Given the description of an element on the screen output the (x, y) to click on. 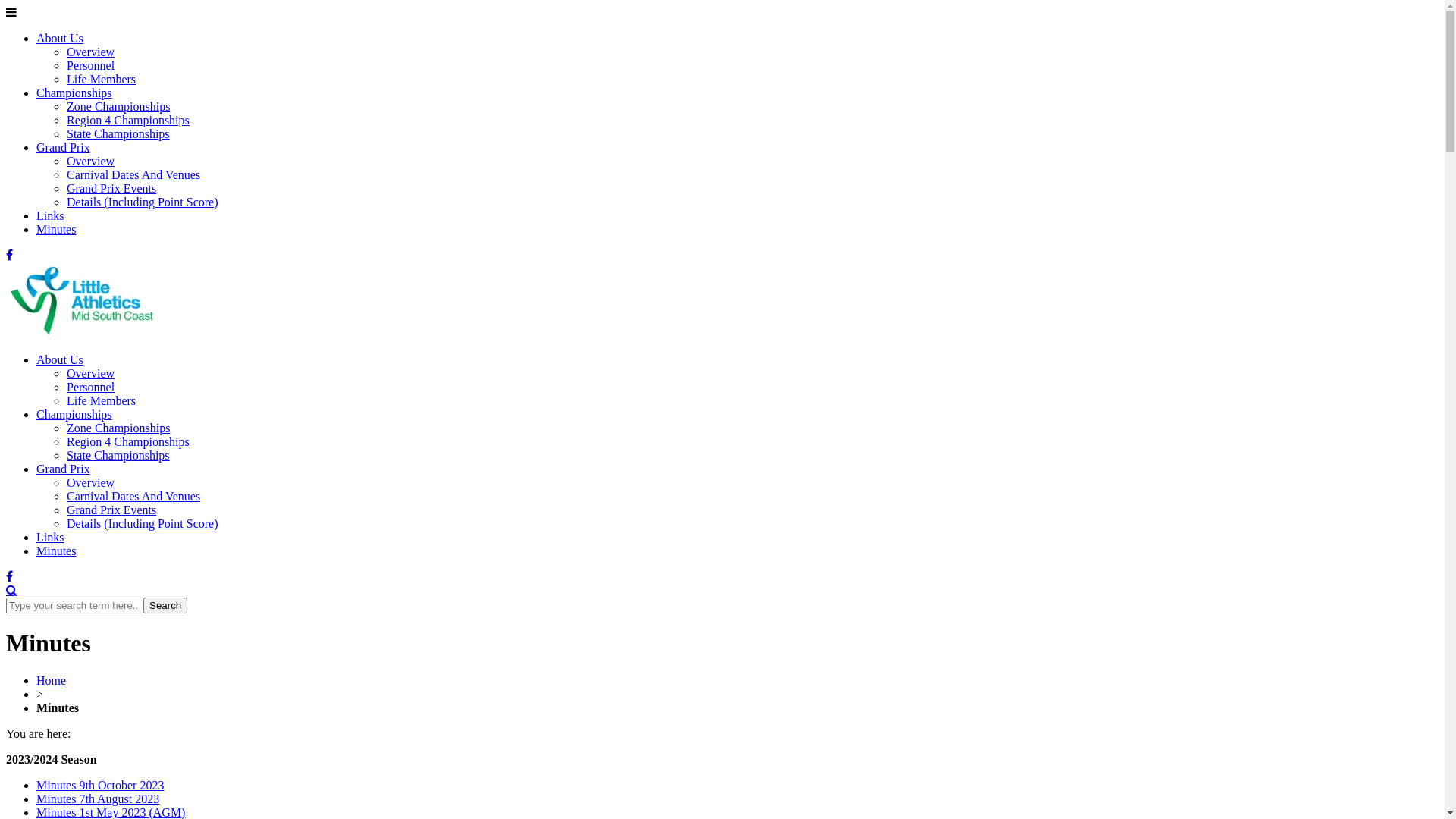
Search Element type: text (165, 605)
Zone Championships Element type: text (117, 106)
Search Element type: hover (11, 589)
Grand Prix Events Element type: text (111, 509)
Personnel Element type: text (90, 386)
Championships Element type: text (74, 413)
Links Element type: text (49, 536)
Links Element type: text (49, 215)
Championships Element type: text (74, 92)
Region 4 Championships Element type: text (127, 441)
Details (Including Point Score) Element type: text (142, 201)
Region 4 Championships Element type: text (127, 119)
Life Members Element type: text (100, 400)
Grand Prix Events Element type: text (111, 188)
About Us Element type: text (59, 359)
Grand Prix Element type: text (63, 468)
Overview Element type: text (90, 482)
Overview Element type: text (90, 51)
Carnival Dates And Venues Element type: text (133, 495)
State Championships Element type: text (117, 454)
Minutes Element type: text (55, 550)
Overview Element type: text (90, 160)
Details (Including Point Score) Element type: text (142, 523)
Personnel Element type: text (90, 65)
Minutes Element type: text (55, 228)
Grand Prix Element type: text (63, 147)
Overview Element type: text (90, 373)
Carnival Dates And Venues Element type: text (133, 174)
Life Members Element type: text (100, 78)
About Us Element type: text (59, 37)
Minutes 9th October 2023 Element type: text (99, 784)
State Championships Element type: text (117, 133)
Minutes 7th August 2023 Element type: text (97, 798)
Home Element type: text (50, 680)
Zone Championships Element type: text (117, 427)
